Given the description of an element on the screen output the (x, y) to click on. 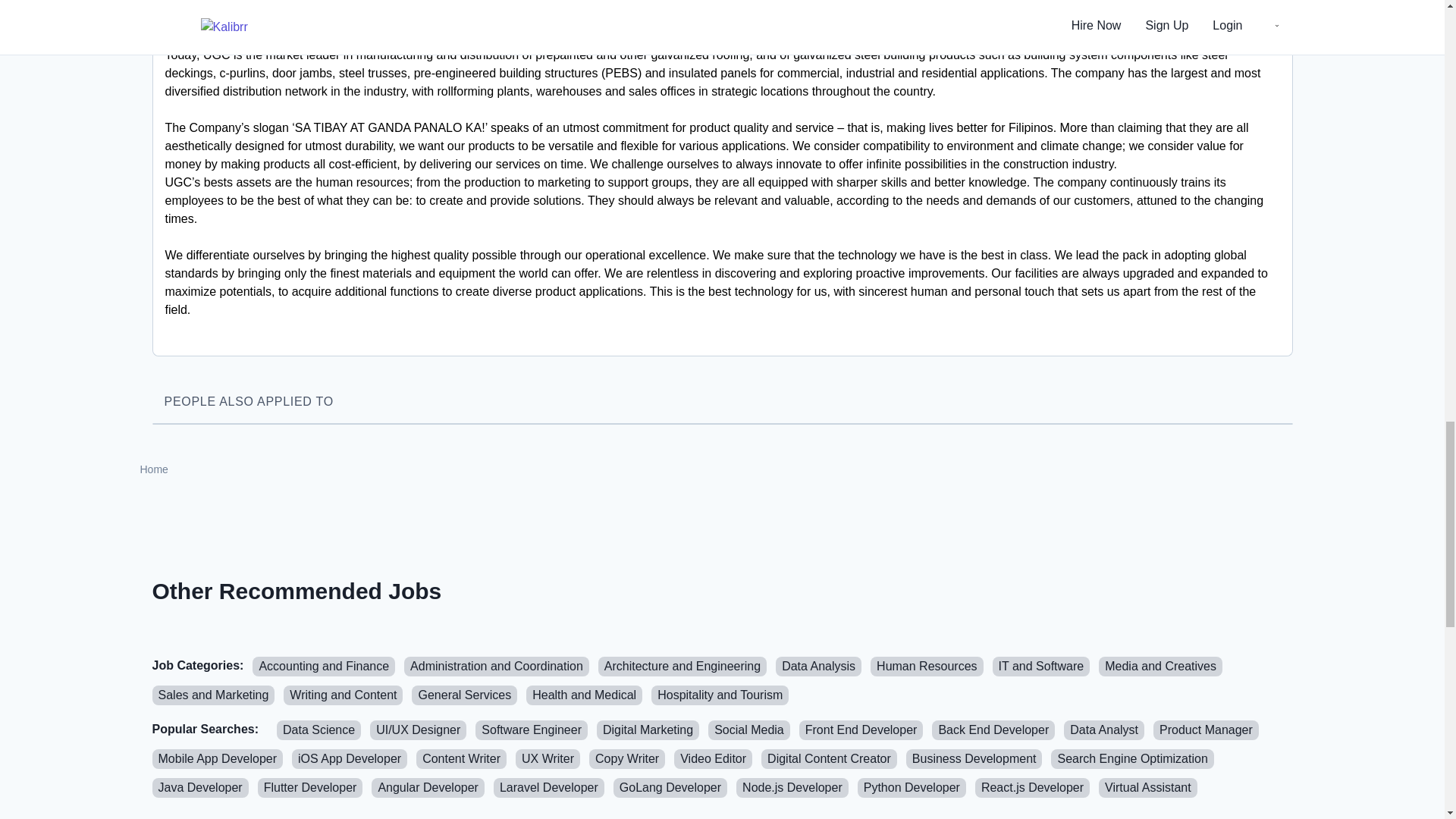
Health and Medical (583, 695)
Administration and Coordination (496, 666)
Home (153, 469)
Accounting and Finance (322, 666)
IT and Software (1041, 666)
Architecture and Engineering (682, 666)
Writing and Content (343, 695)
Sales and Marketing (213, 695)
Media and Creatives (1161, 666)
Human Resources (927, 666)
Data Analysis (818, 666)
Hospitality and Tourism (719, 695)
General Services (464, 695)
